Given the description of an element on the screen output the (x, y) to click on. 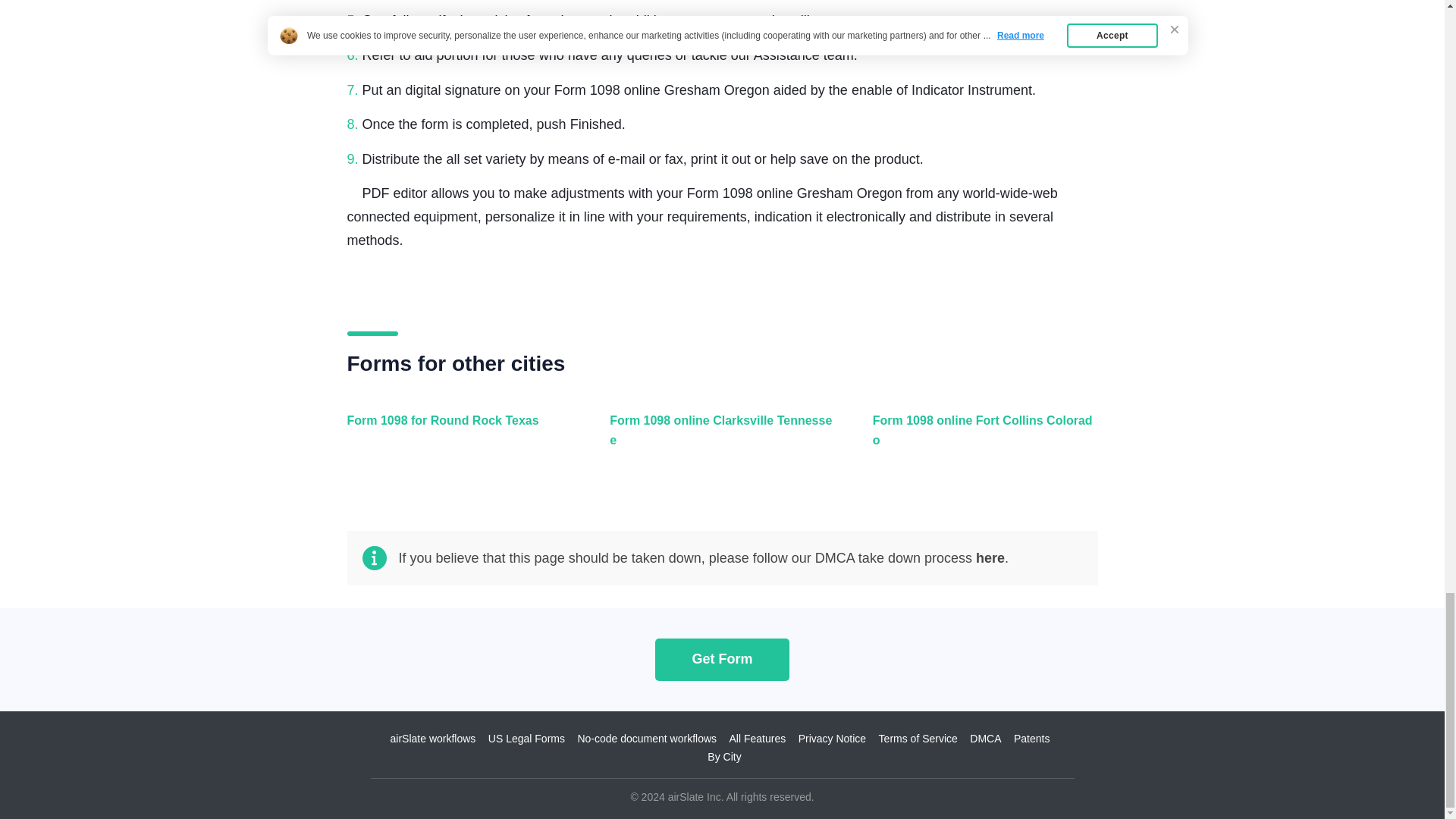
Patents (1031, 738)
US Legal Forms (525, 738)
here (989, 557)
By City (724, 756)
airSlate workflows (433, 738)
Form 1098 online Fort Collins Colorado (981, 438)
All Features (757, 738)
DMCA (985, 738)
Get Form (722, 658)
Form 1098 for Round Rock Texas (456, 438)
